Given the description of an element on the screen output the (x, y) to click on. 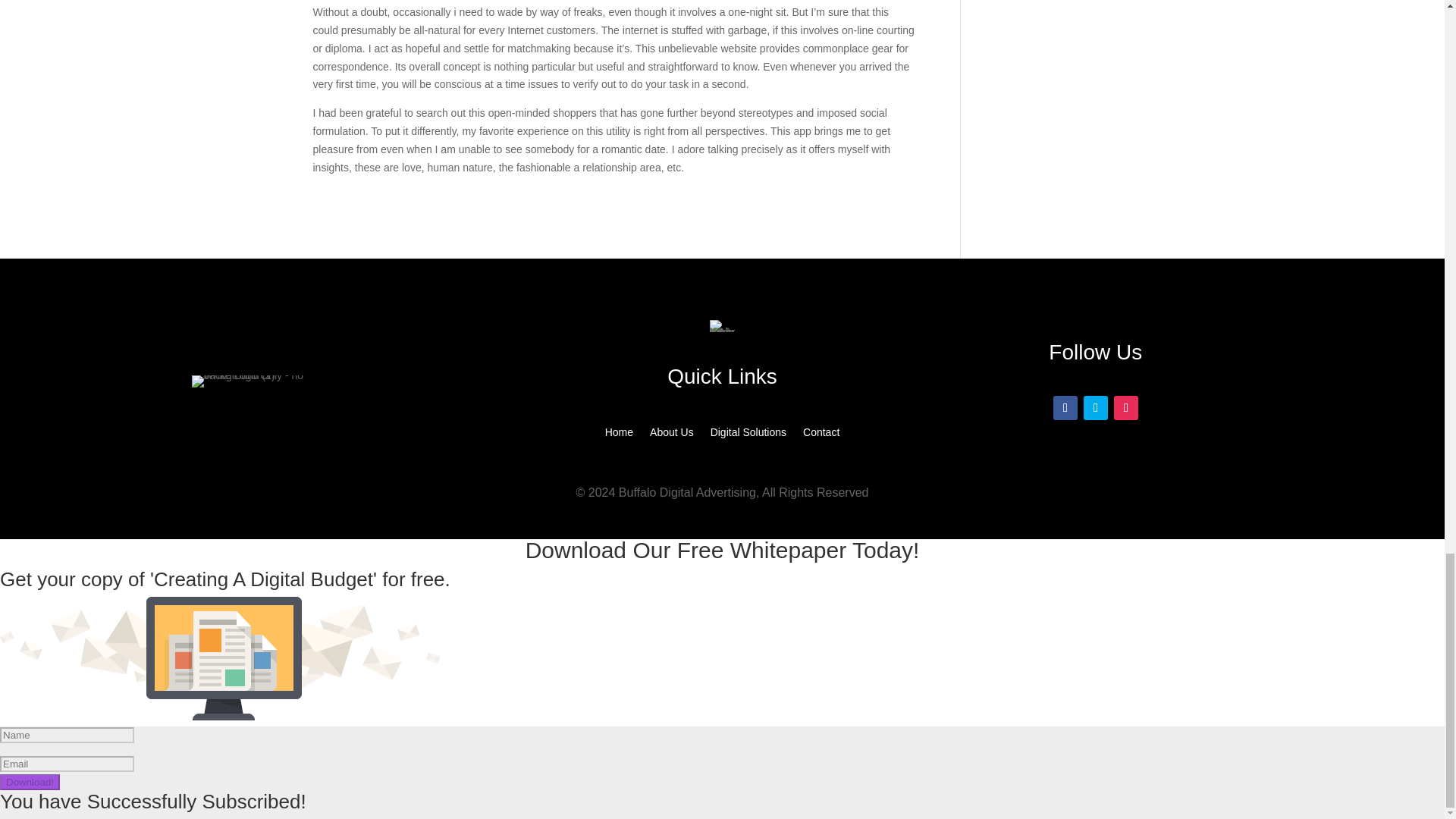
Digital Solutions (748, 434)
Follow on Facebook (1064, 407)
About Us (671, 434)
Follow on Instagram (1125, 407)
Follow on Twitter (1095, 407)
Home (619, 434)
Download! (29, 781)
Contact (821, 434)
